Given the description of an element on the screen output the (x, y) to click on. 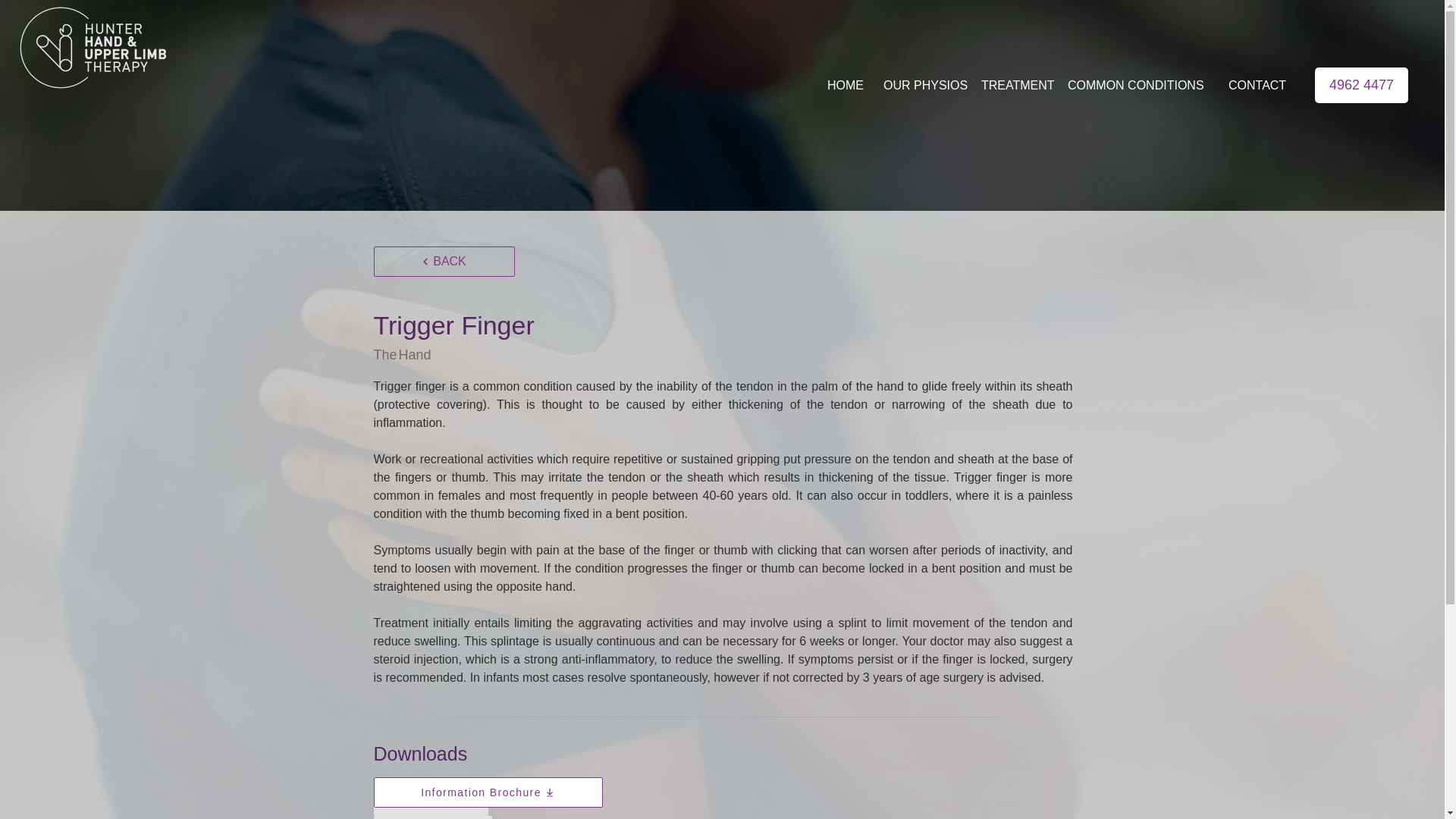
4962 4477 (1360, 85)
OUR PHYSIOS (922, 85)
BACK (442, 261)
HOME (844, 85)
CONTACT (1256, 85)
Information Brochure (487, 792)
TREATMENT (1014, 85)
COMMON CONDITIONS (1138, 85)
